Given the description of an element on the screen output the (x, y) to click on. 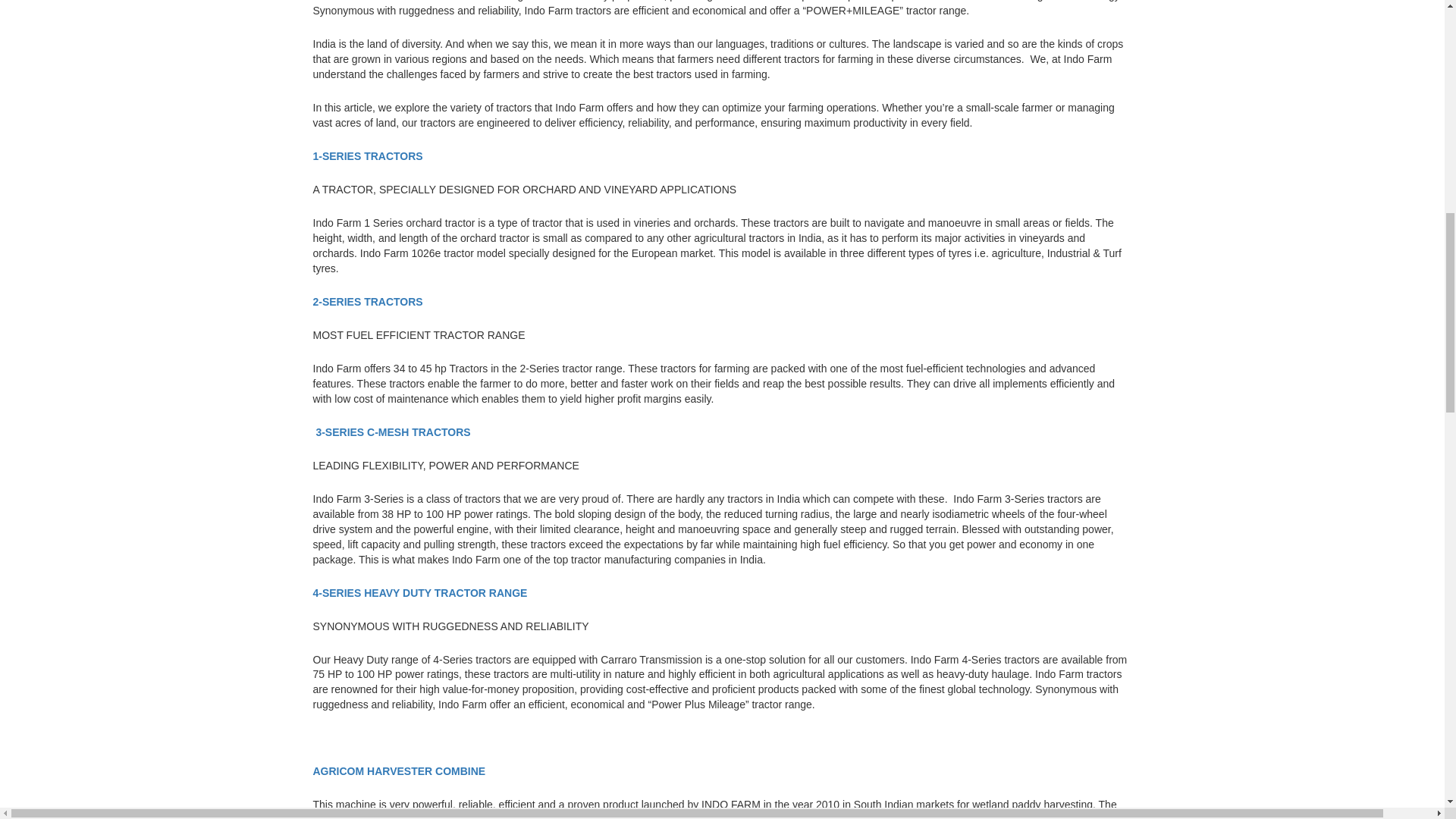
1-SERIES TRACTORS  (369, 155)
3-SERIES C-MESH TRACTORS (394, 431)
2-SERIES TRACTORS (367, 301)
AGRICOM HARVESTER COMBINE (400, 770)
